Given the description of an element on the screen output the (x, y) to click on. 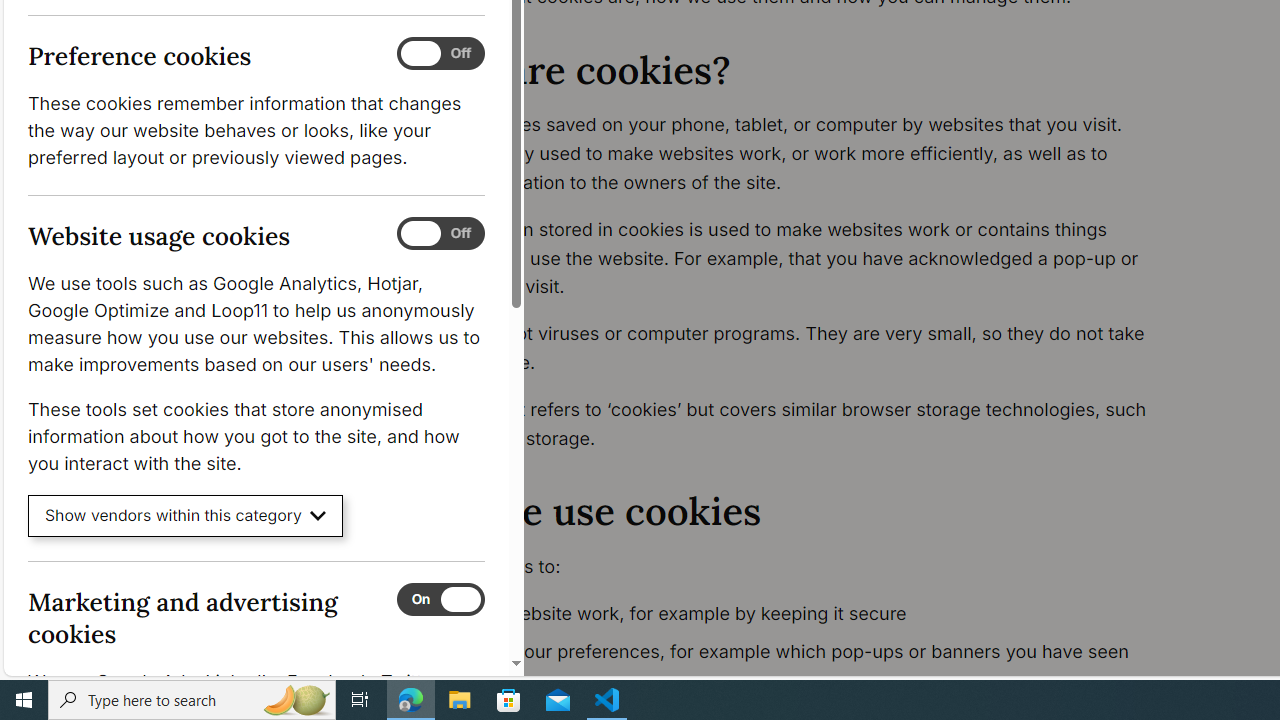
make our website work, for example by keeping it secure (796, 614)
Website usage cookies (440, 233)
Marketing and advertising cookies (440, 599)
Preference cookies (440, 53)
Show vendors within this category (185, 516)
